Given the description of an element on the screen output the (x, y) to click on. 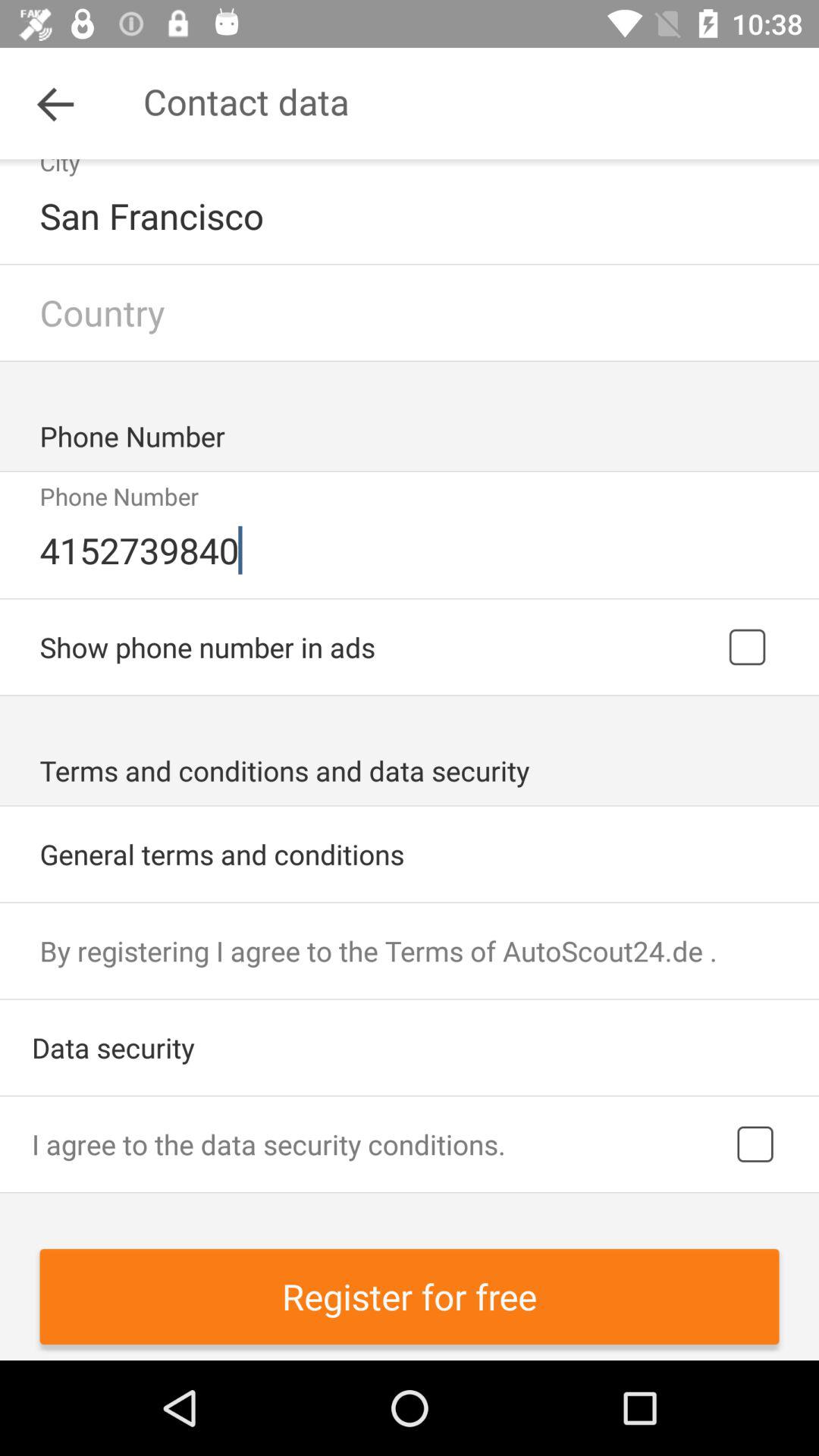
turn on the icon below the city item (411, 215)
